Given the description of an element on the screen output the (x, y) to click on. 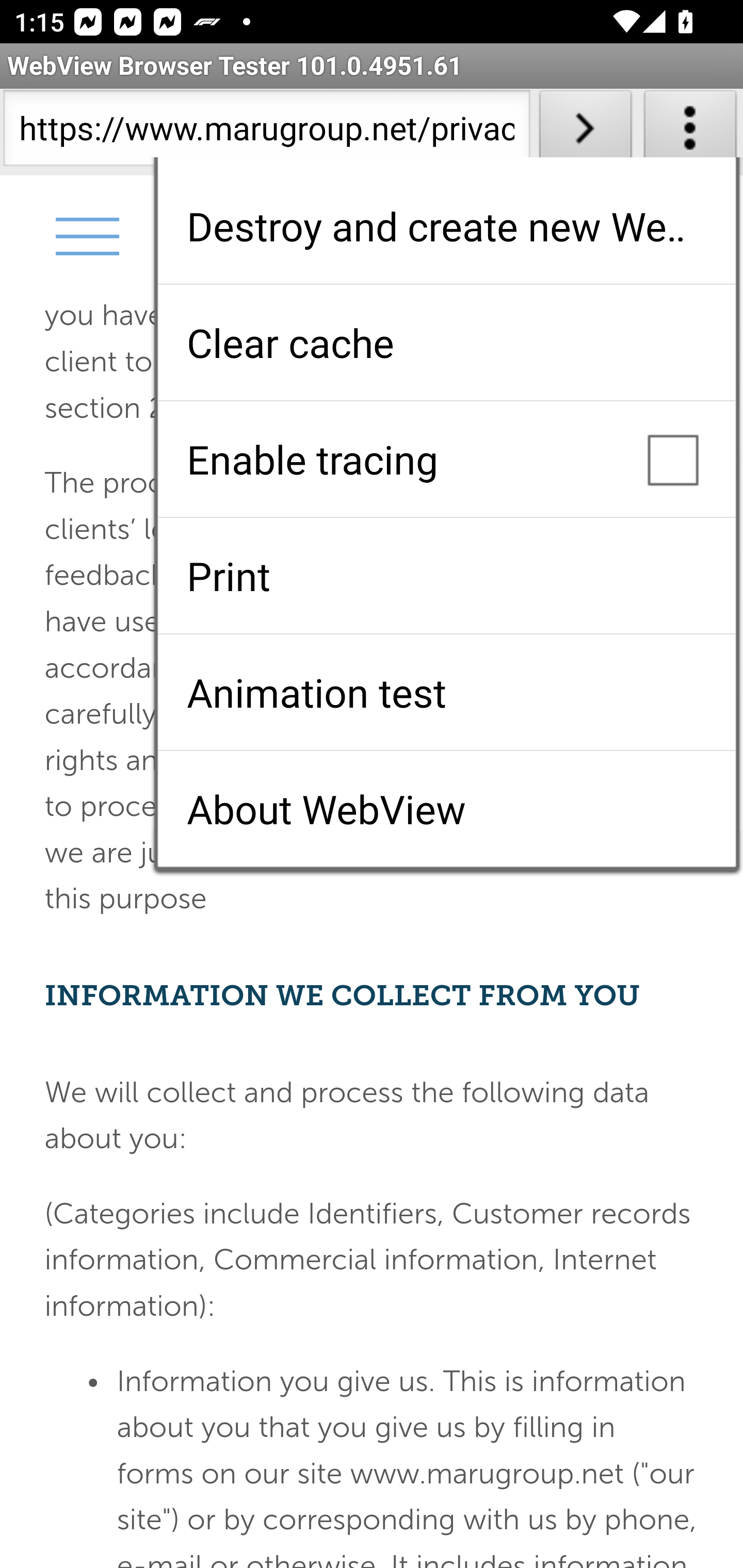
Destroy and create new WebView (446, 225)
Clear cache (446, 342)
Enable tracing (446, 459)
Print (446, 575)
Animation test (446, 692)
About WebView (446, 809)
